Given the description of an element on the screen output the (x, y) to click on. 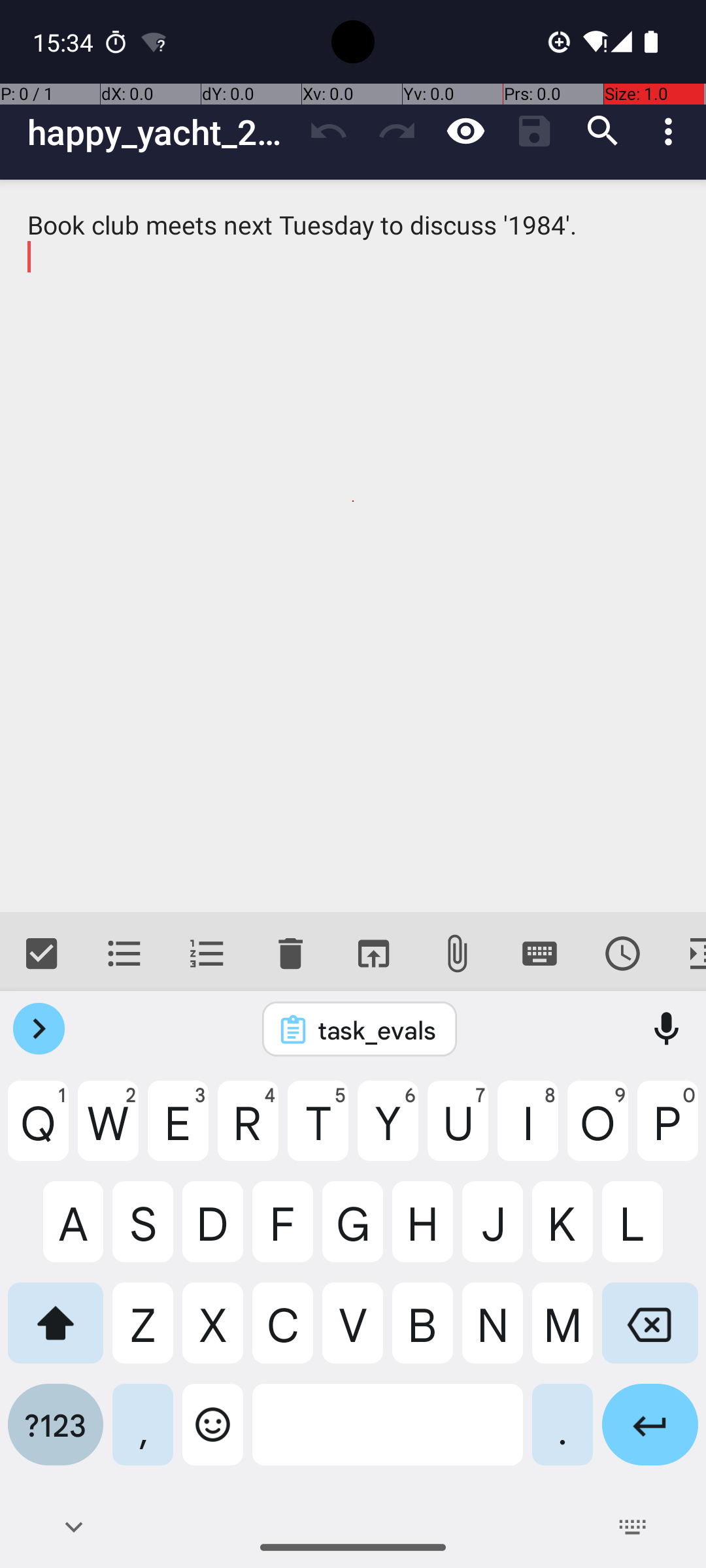
happy_yacht_2023_04_24 Element type: android.widget.TextView (160, 131)
Book club meets next Tuesday to discuss '1984'.
 Element type: android.widget.EditText (353, 545)
task_evals Element type: android.widget.TextView (376, 1029)
